Given the description of an element on the screen output the (x, y) to click on. 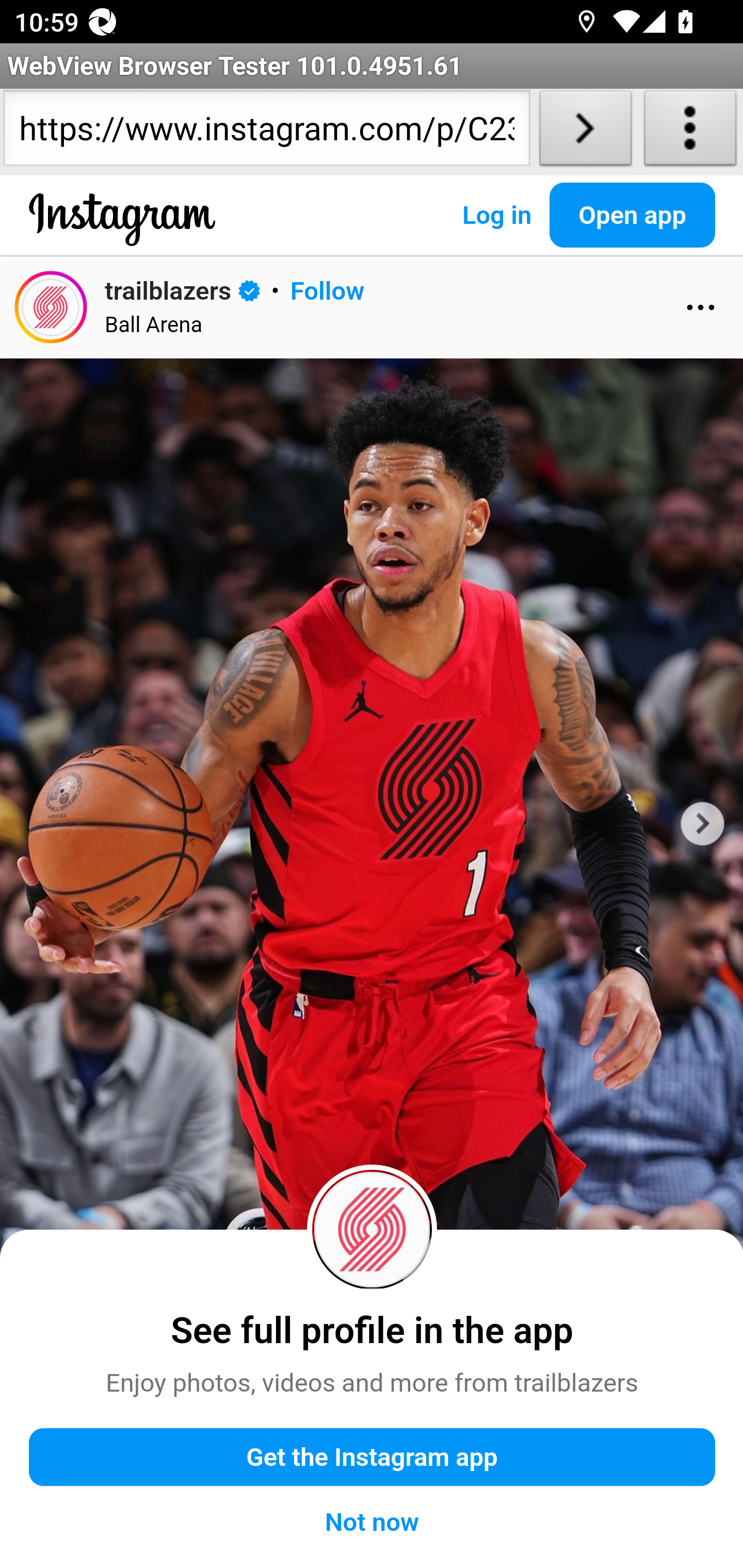
Load URL (585, 132)
About WebView (690, 132)
Log in (495, 214)
Open app (632, 214)
Instagram Instagram Instagram Instagram (122, 234)
trailblazers trailblazers Verified (183, 288)
More options (701, 306)
Follow (327, 290)
trailblazers's profile picture (50, 306)
Ball Arena (153, 324)
Next (702, 823)
trailblazers's profile picture (372, 1229)
Get the Instagram app (372, 1458)
Not now (372, 1521)
